Given the description of an element on the screen output the (x, y) to click on. 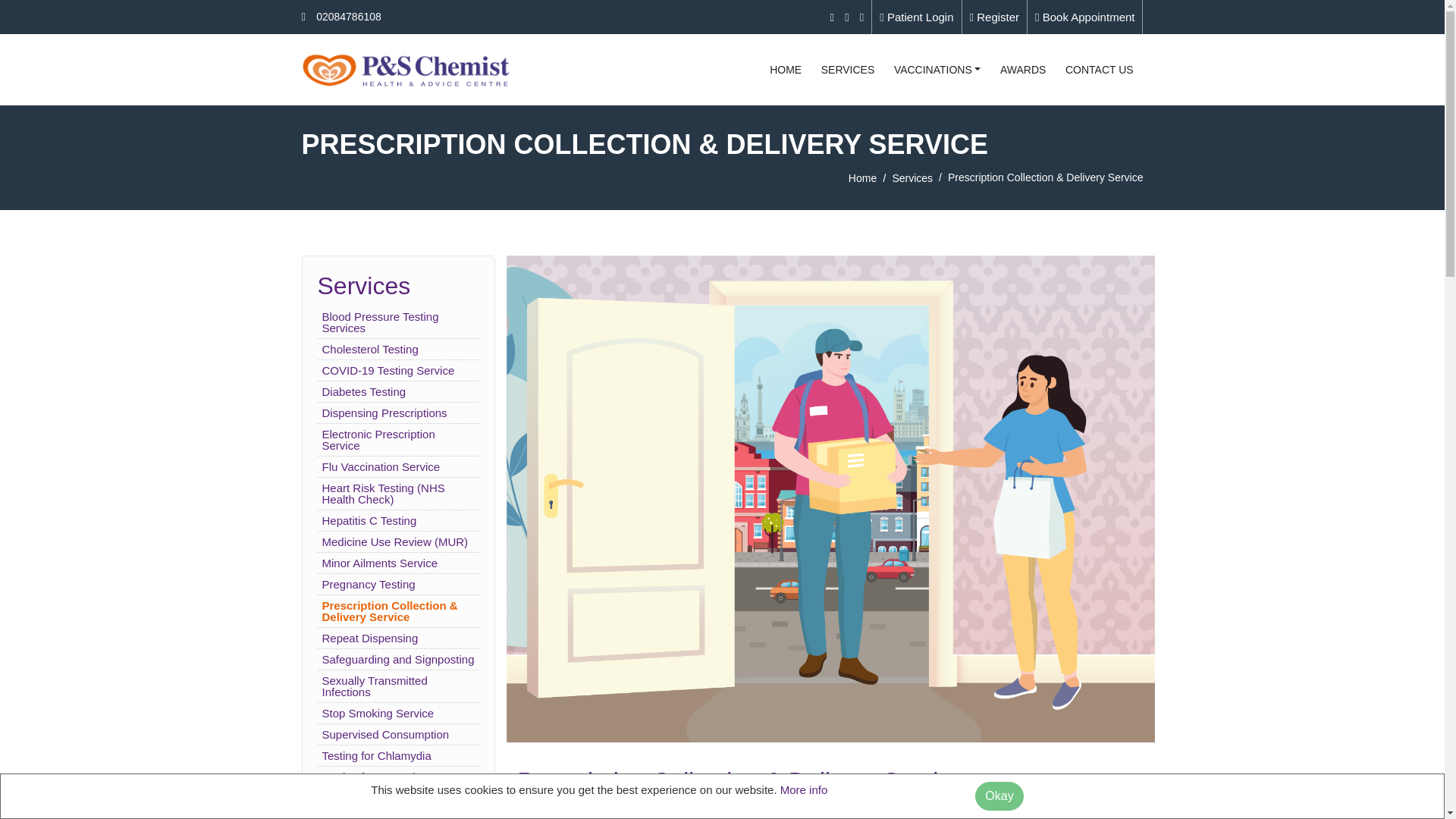
Cholesterol Testing (369, 349)
The Morning-after Pill (375, 797)
VACCINATIONS (936, 70)
Services (912, 177)
Blood Pressure Testing Services (379, 322)
Sexually Transmitted Infections (373, 686)
Supervised Consumption (384, 734)
Register (993, 17)
Hepatitis C Testing (368, 520)
Pregnancy Testing (367, 584)
Stop Smoking Service (377, 712)
HOME (785, 70)
Minor Ailments Service (379, 562)
Repeat Dispensing (369, 637)
Flu Vaccination Service (380, 466)
